Given the description of an element on the screen output the (x, y) to click on. 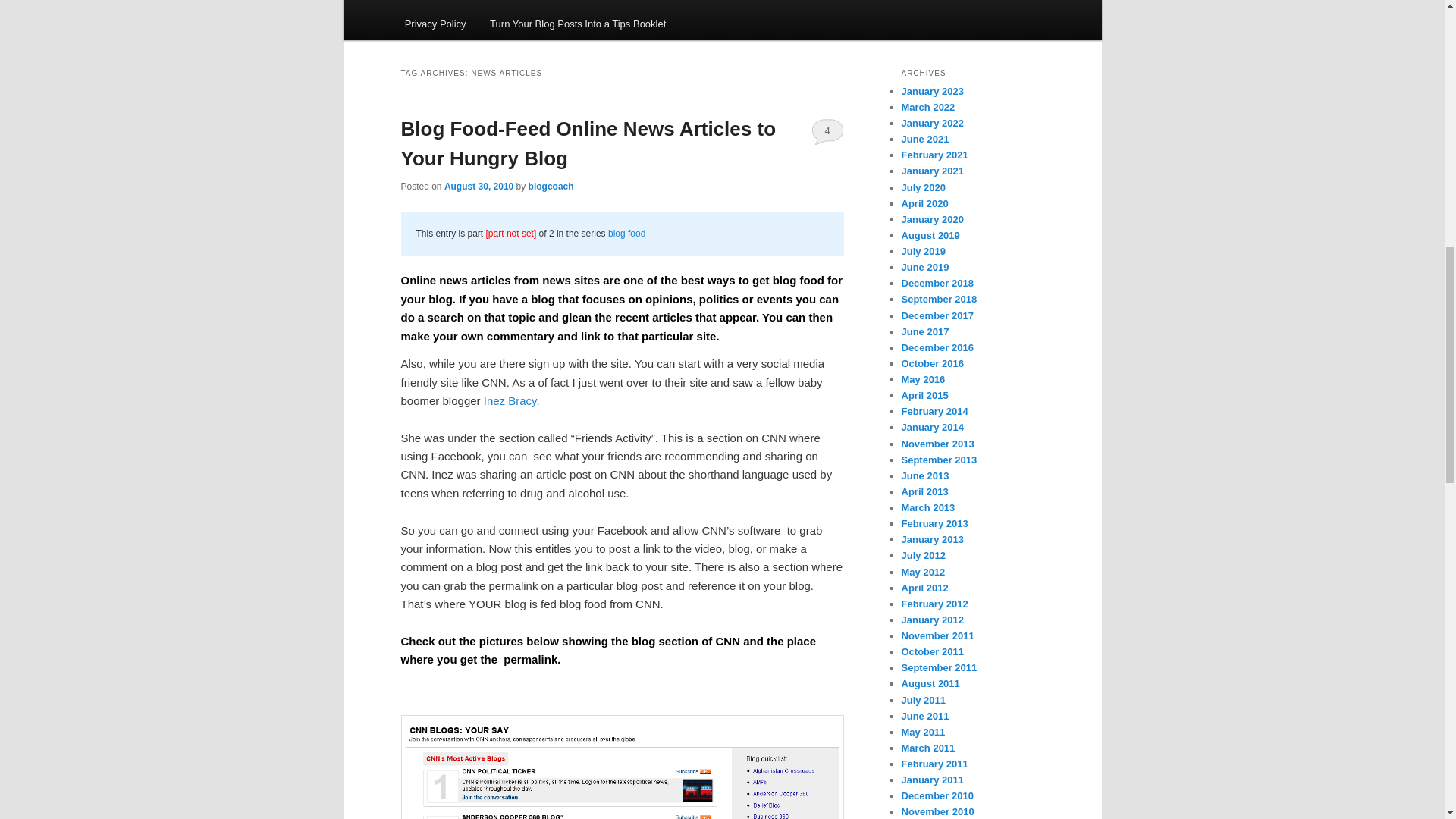
January 2020 (931, 219)
June 2021 (925, 138)
Privacy Policy (435, 23)
February 2021 (934, 154)
Join The Blogging For Boomers Facebook Group (861, 3)
View all posts by blogcoach (550, 185)
Blog Food-Feed Online News Articles to Your Hungry Blog (588, 143)
blogcoach (550, 185)
CNN (621, 766)
blog food (626, 233)
About (467, 3)
March 2022 (928, 107)
August 2019 (930, 235)
Buy Boomer Stuff (692, 3)
12:19 pm (478, 185)
